Given the description of an element on the screen output the (x, y) to click on. 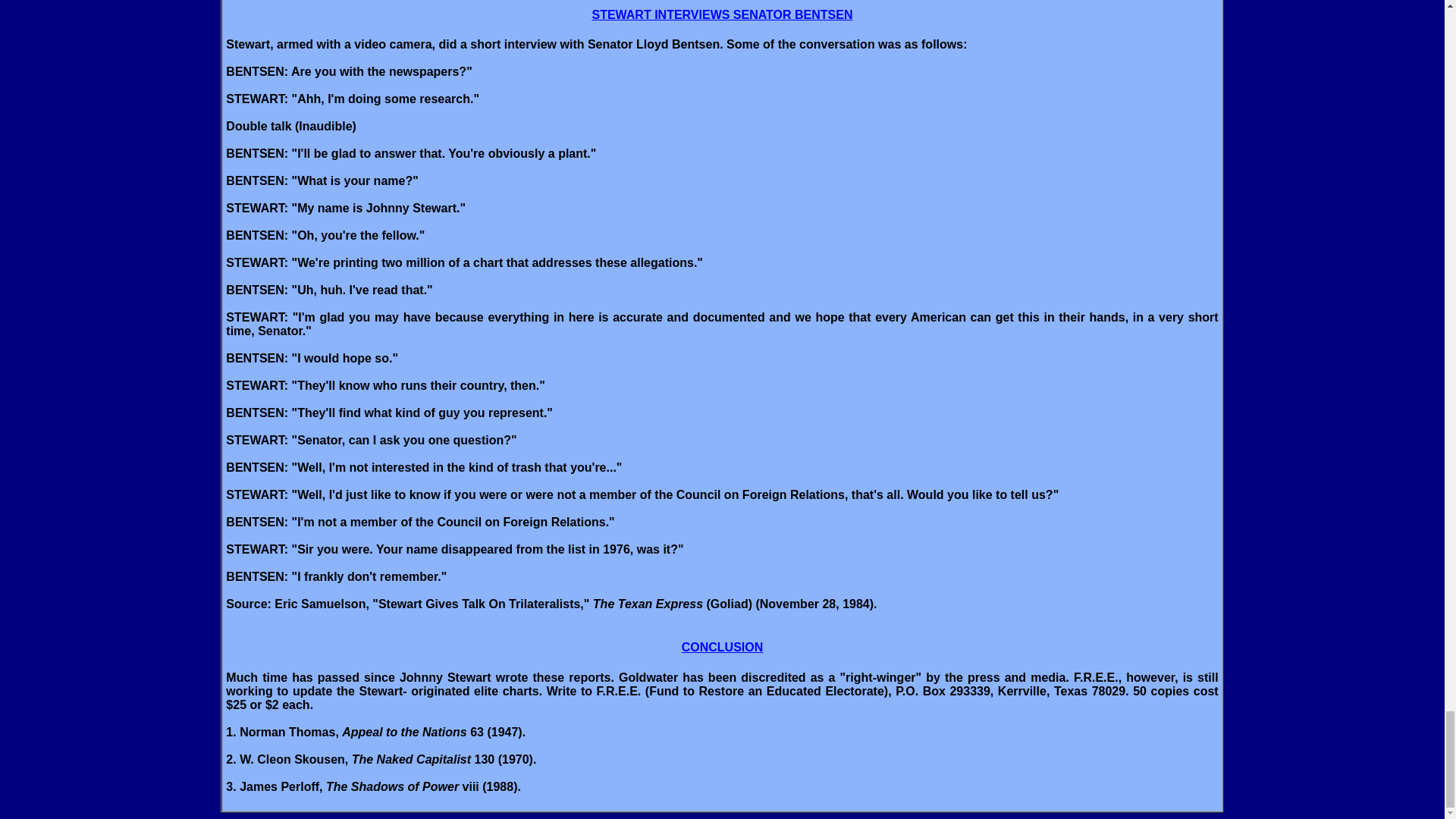
3. (230, 786)
2. (230, 758)
1. (230, 731)
